Given the description of an element on the screen output the (x, y) to click on. 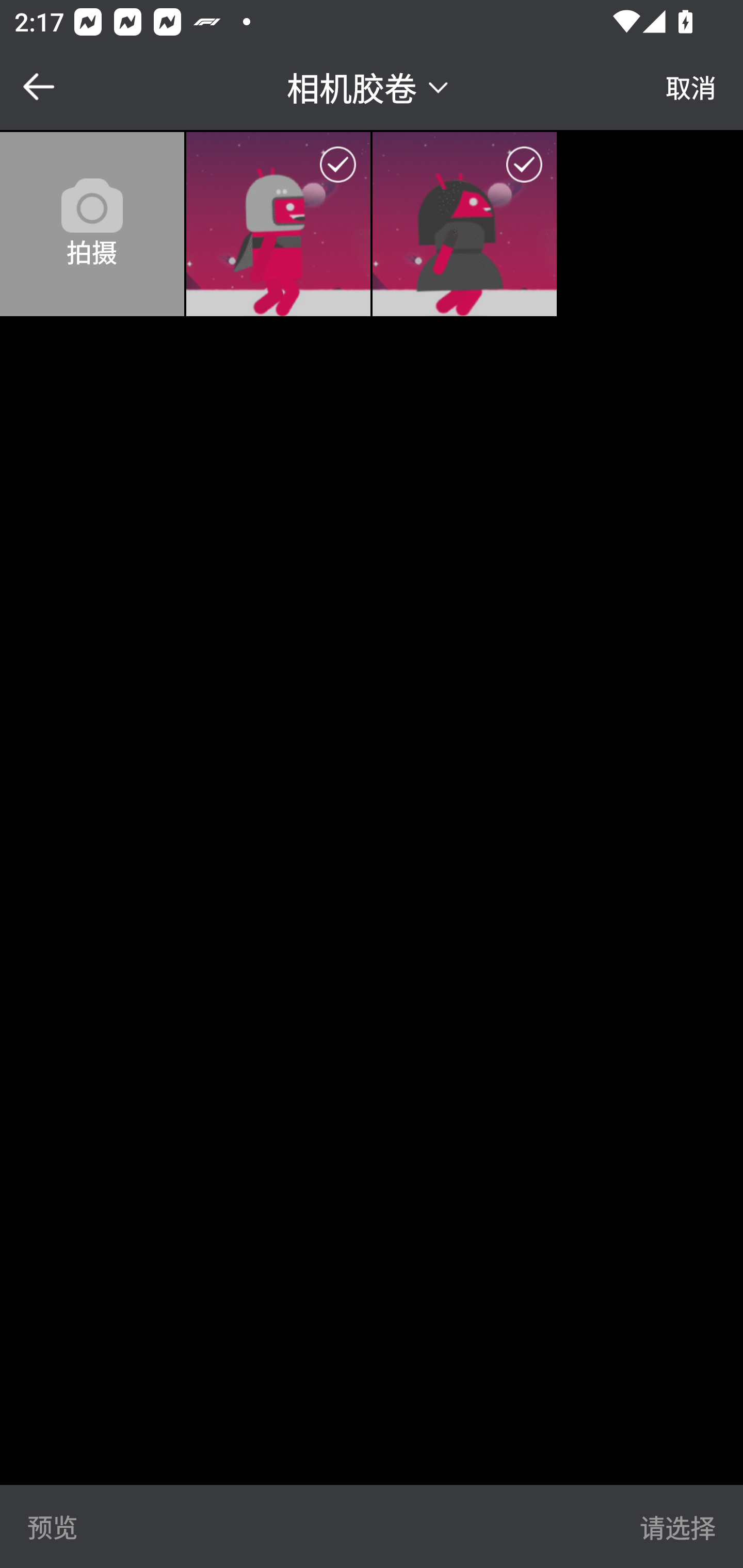
取消 (690, 86)
相机胶卷 (370, 85)
拍摄 (92, 223)
预览 (52, 1526)
请选择 (677, 1526)
